Given the description of an element on the screen output the (x, y) to click on. 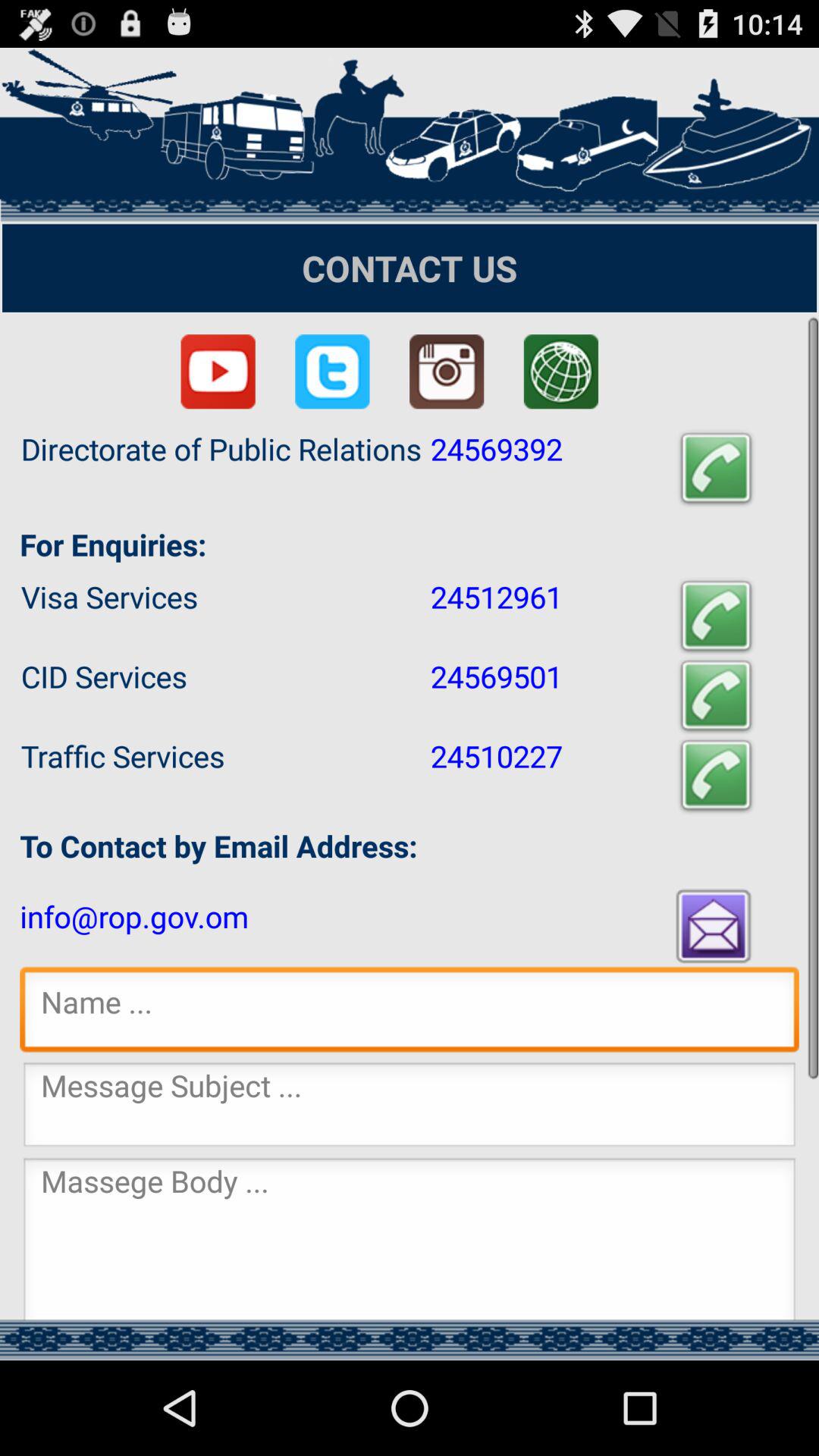
view instagram (446, 371)
